Given the description of an element on the screen output the (x, y) to click on. 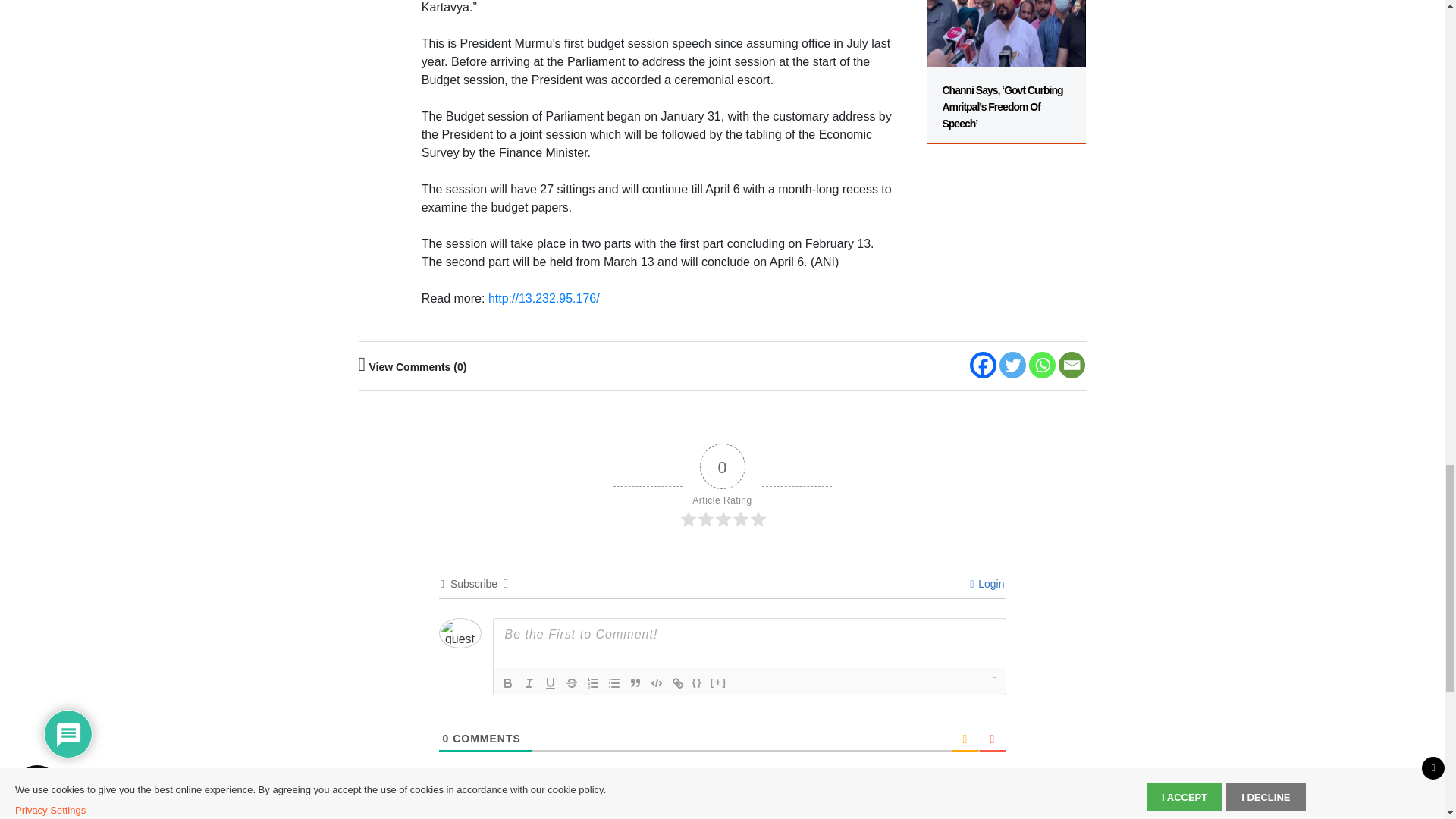
Login (986, 583)
